Given the description of an element on the screen output the (x, y) to click on. 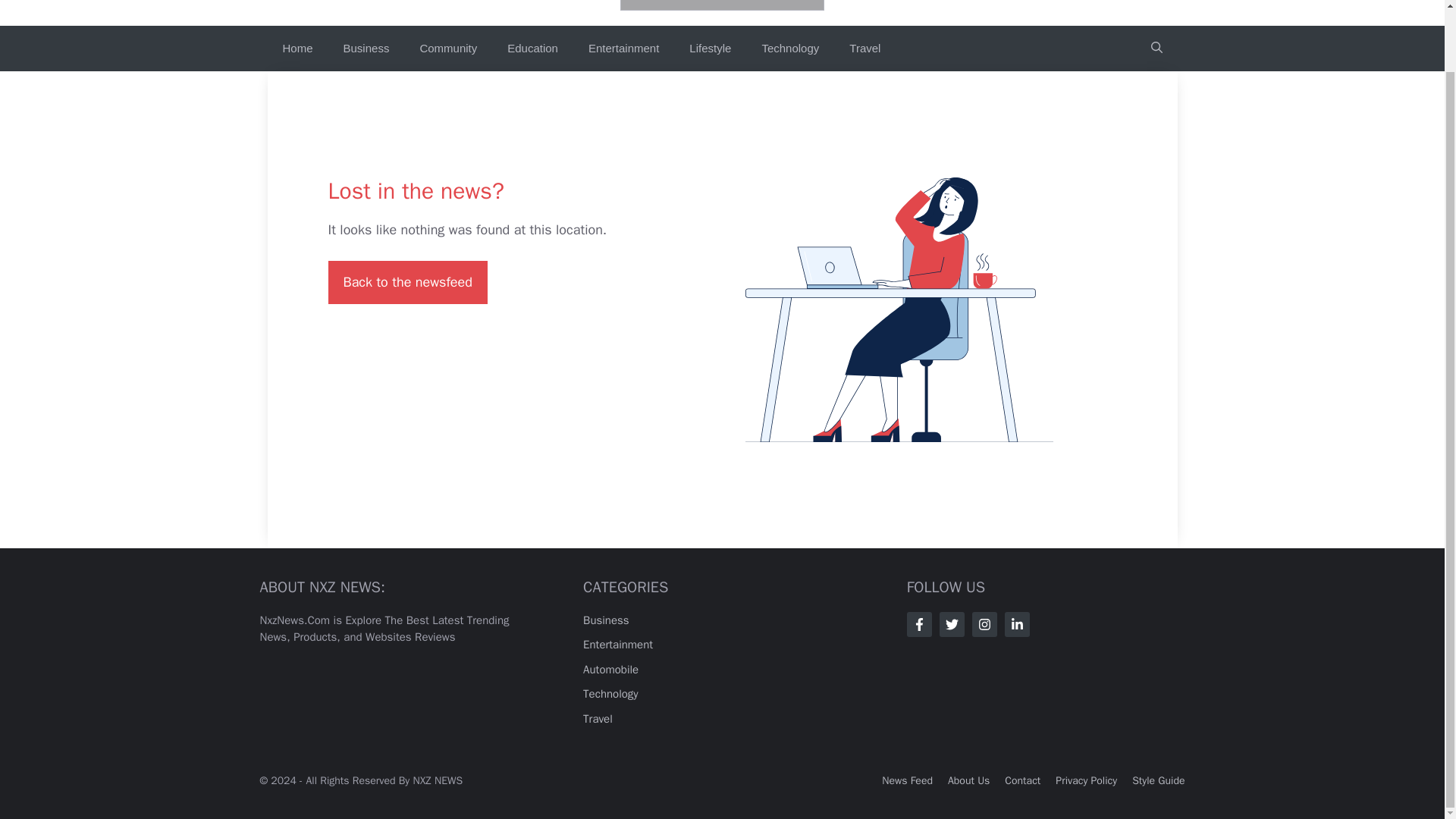
Back to the newsfeed (406, 281)
Education (532, 47)
Technology (611, 694)
About Us (968, 780)
Entertainment (617, 644)
News Feed (907, 780)
Travel (597, 718)
Business (366, 47)
Lifestyle (709, 47)
Home (296, 47)
